Given the description of an element on the screen output the (x, y) to click on. 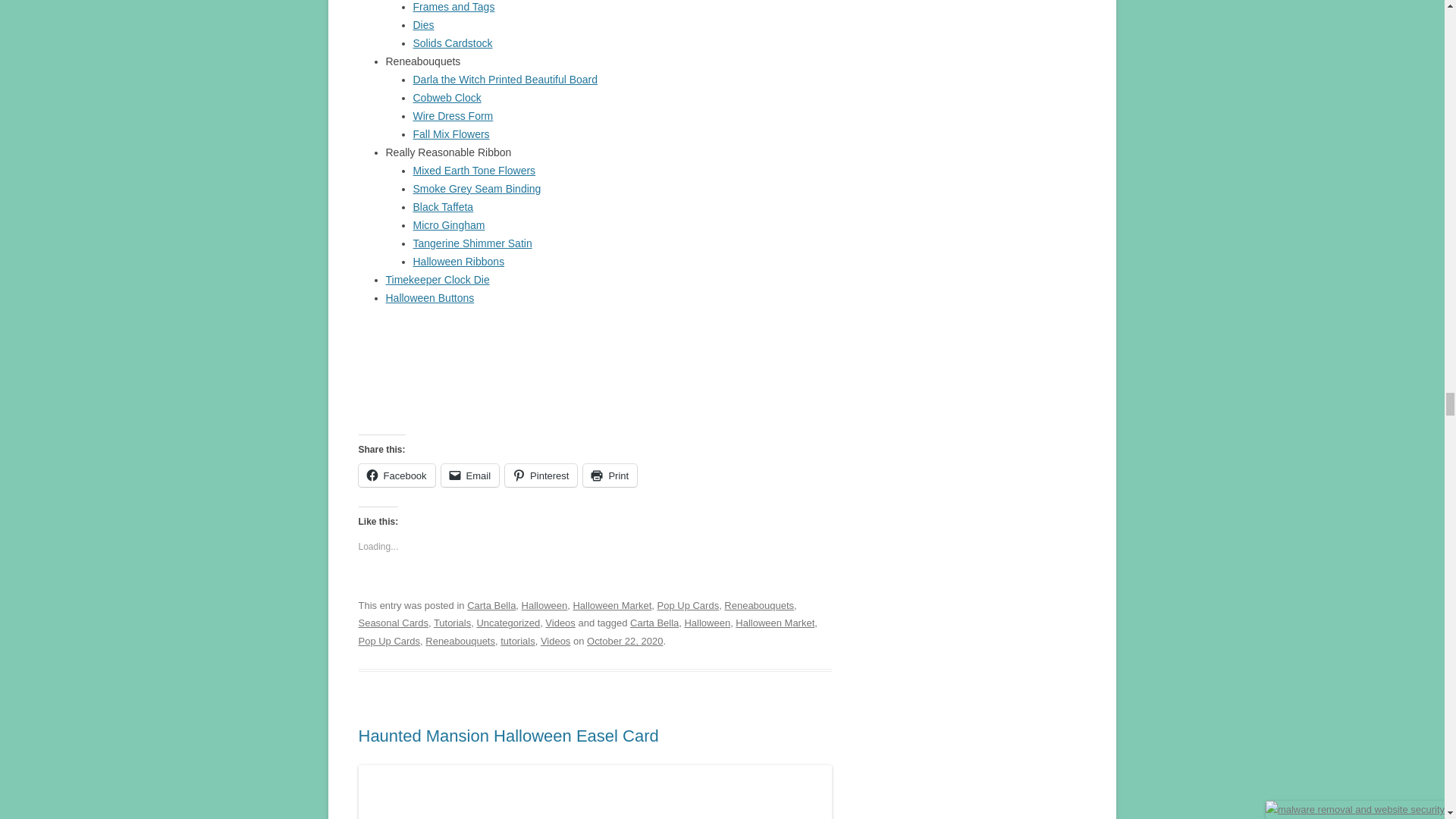
Carta Bella (491, 604)
Reneabouquets (758, 604)
Facebook (395, 475)
Timekeeper Clock Die (437, 279)
Pinterest (540, 475)
Seasonal Cards (393, 622)
Solids Cardstock (452, 42)
Halloween Buttons (429, 297)
Wire Dress Form (452, 115)
Pop Up Cards (688, 604)
